Given the description of an element on the screen output the (x, y) to click on. 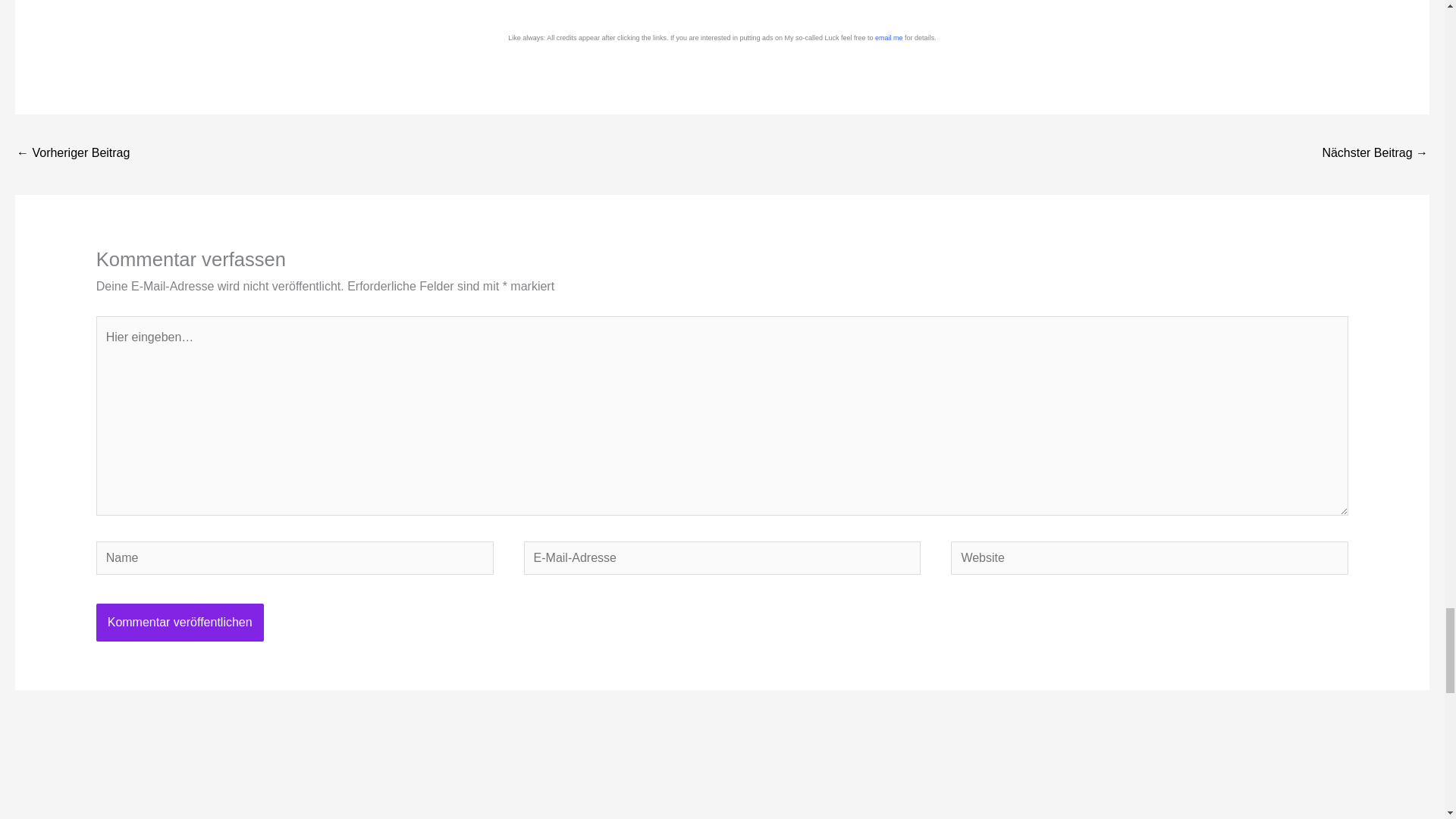
 email me  (889, 37)
about me  (889, 37)
Tuesdays With Morrie by Mitch Albom! (72, 154)
